Given the description of an element on the screen output the (x, y) to click on. 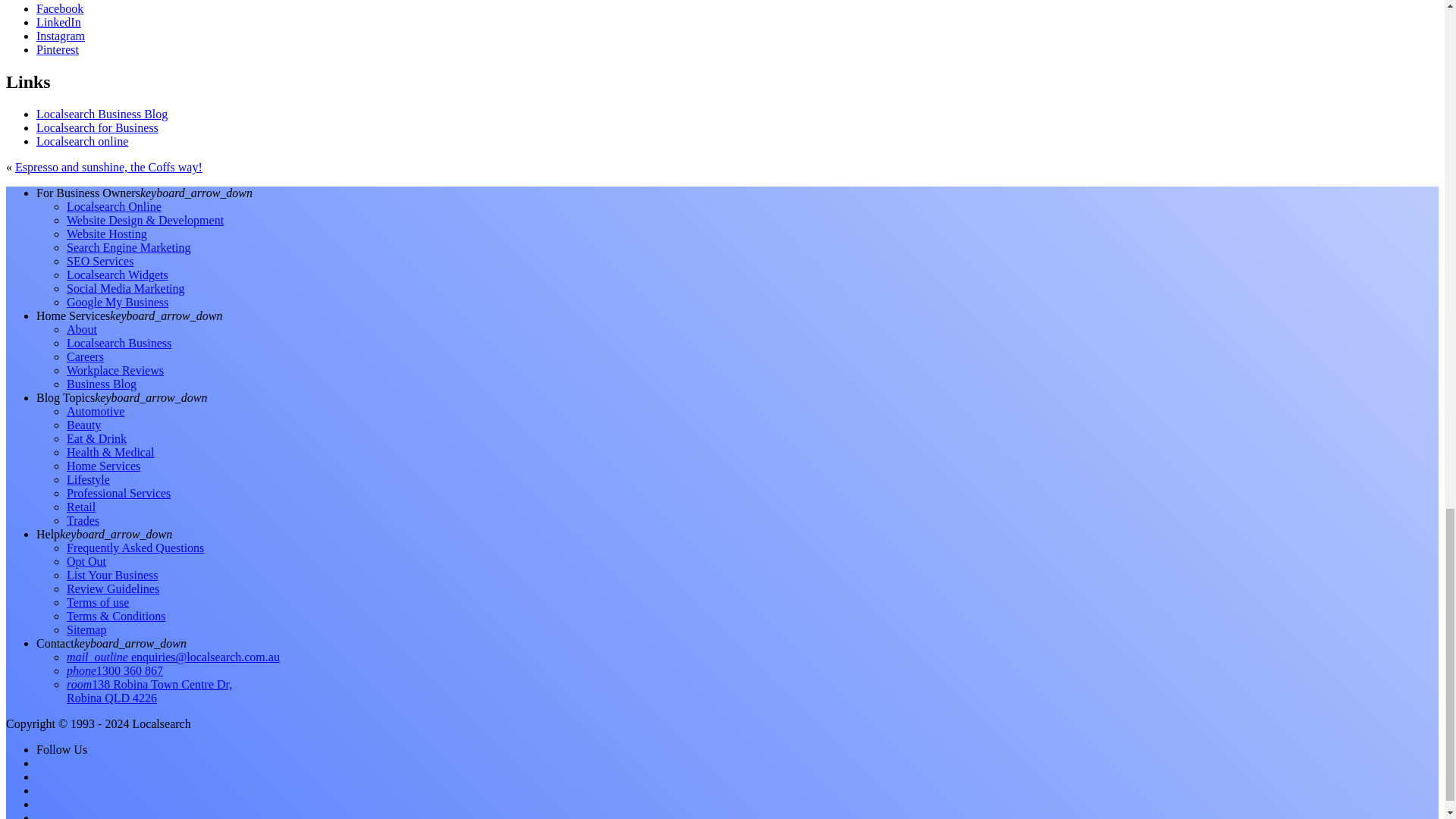
Search Engine Marketing (128, 246)
Website Hosting (106, 233)
LinkedIn (58, 21)
Localsearch online (82, 141)
Localsearch Online (113, 205)
Localsearch for Business (97, 127)
SEO Services (99, 260)
Espresso and sunshine, the Coffs way! (108, 166)
Instagram (60, 35)
Pinterest (57, 49)
